Given the description of an element on the screen output the (x, y) to click on. 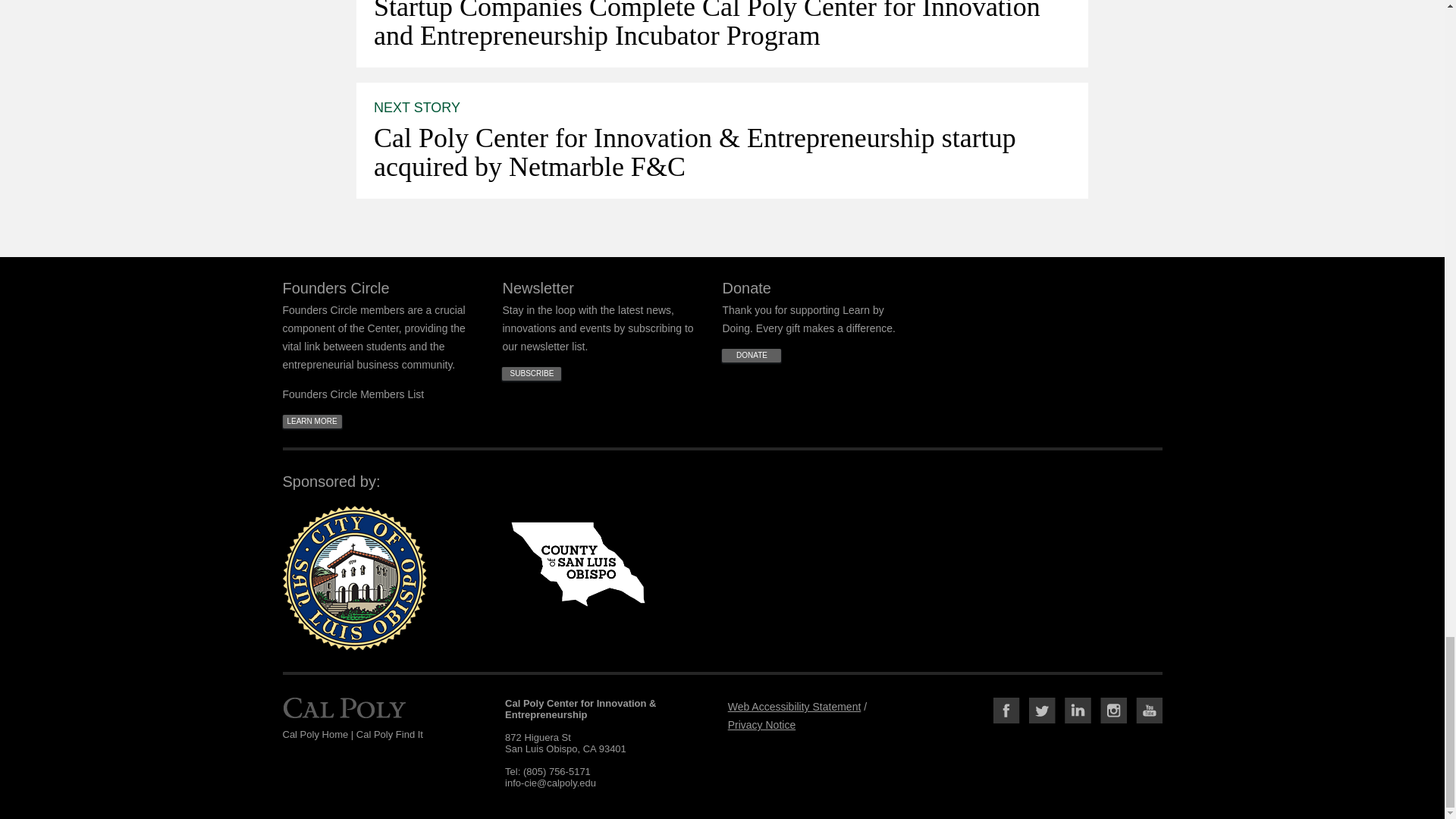
Web Accessibility Statement (794, 706)
LEARN MORE (311, 421)
Cal Poly Home (344, 728)
DONATE (751, 355)
Privacy Notice (761, 725)
SUBSCRIBE (531, 373)
Founders Circle Members List (352, 394)
Cal Poly Find It (389, 734)
